Given the description of an element on the screen output the (x, y) to click on. 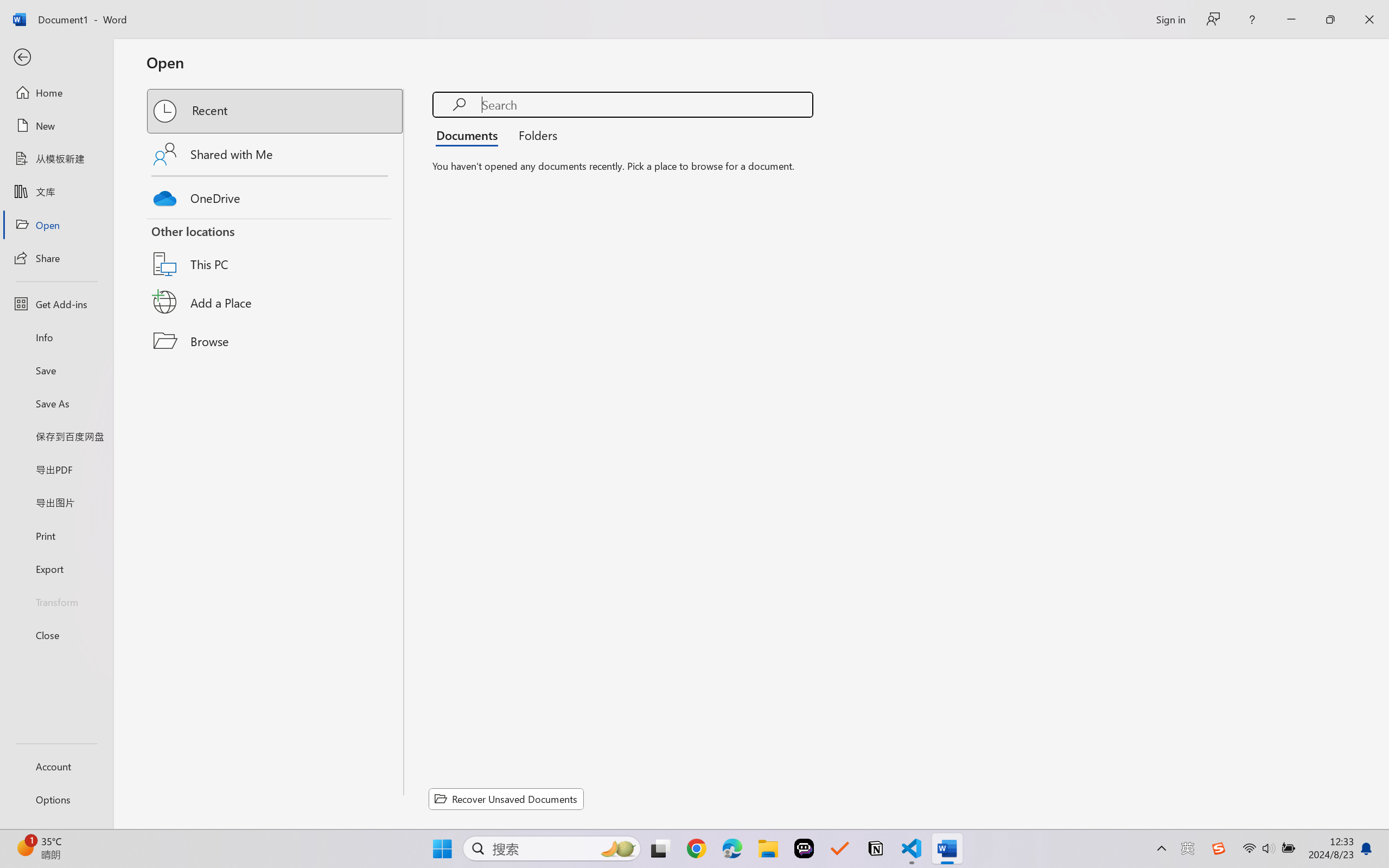
Transform (56, 601)
OneDrive (275, 195)
Folders (534, 134)
Save As (56, 403)
Browse (275, 340)
